Given the description of an element on the screen output the (x, y) to click on. 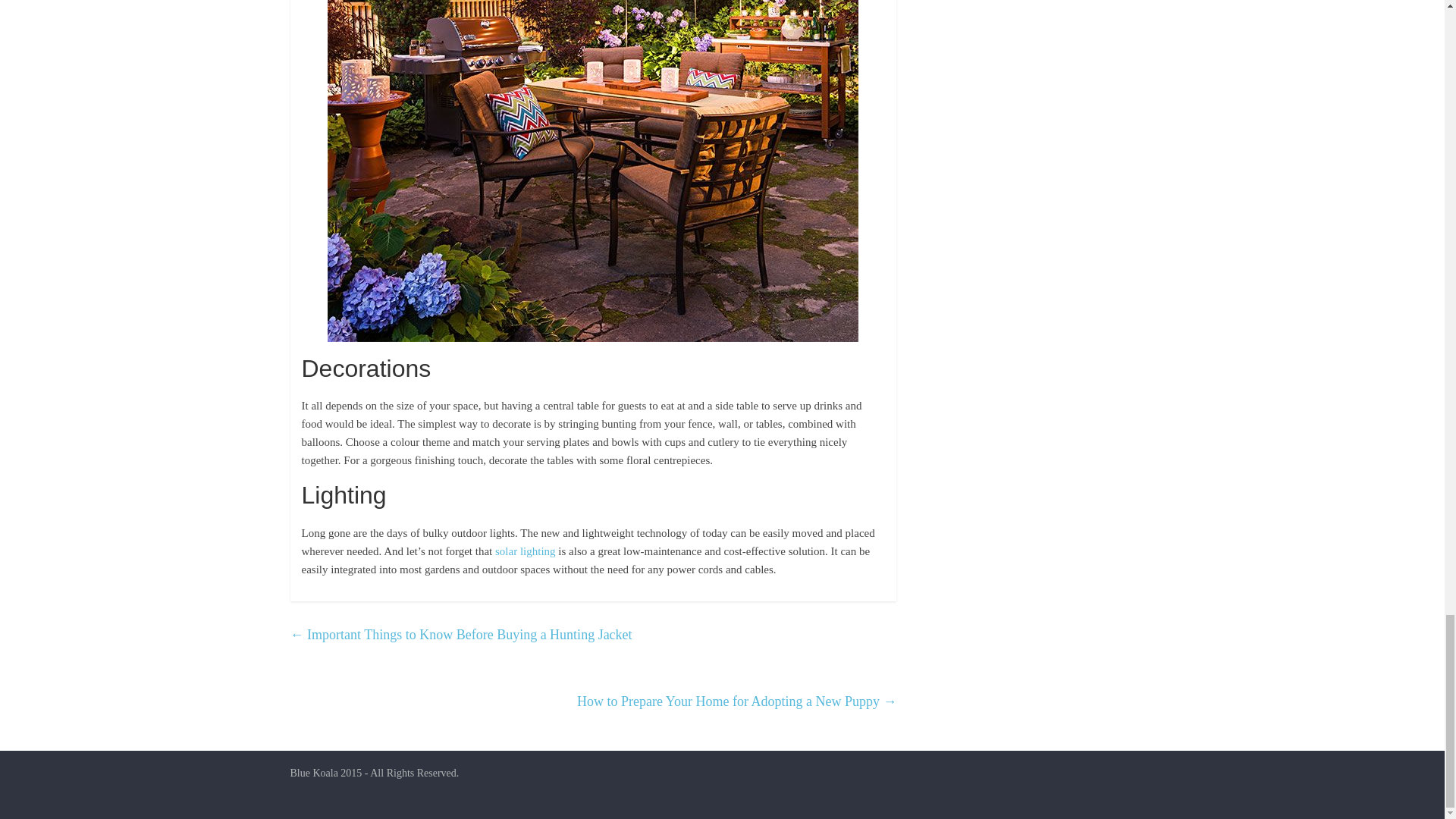
solar lighting (525, 551)
